Given the description of an element on the screen output the (x, y) to click on. 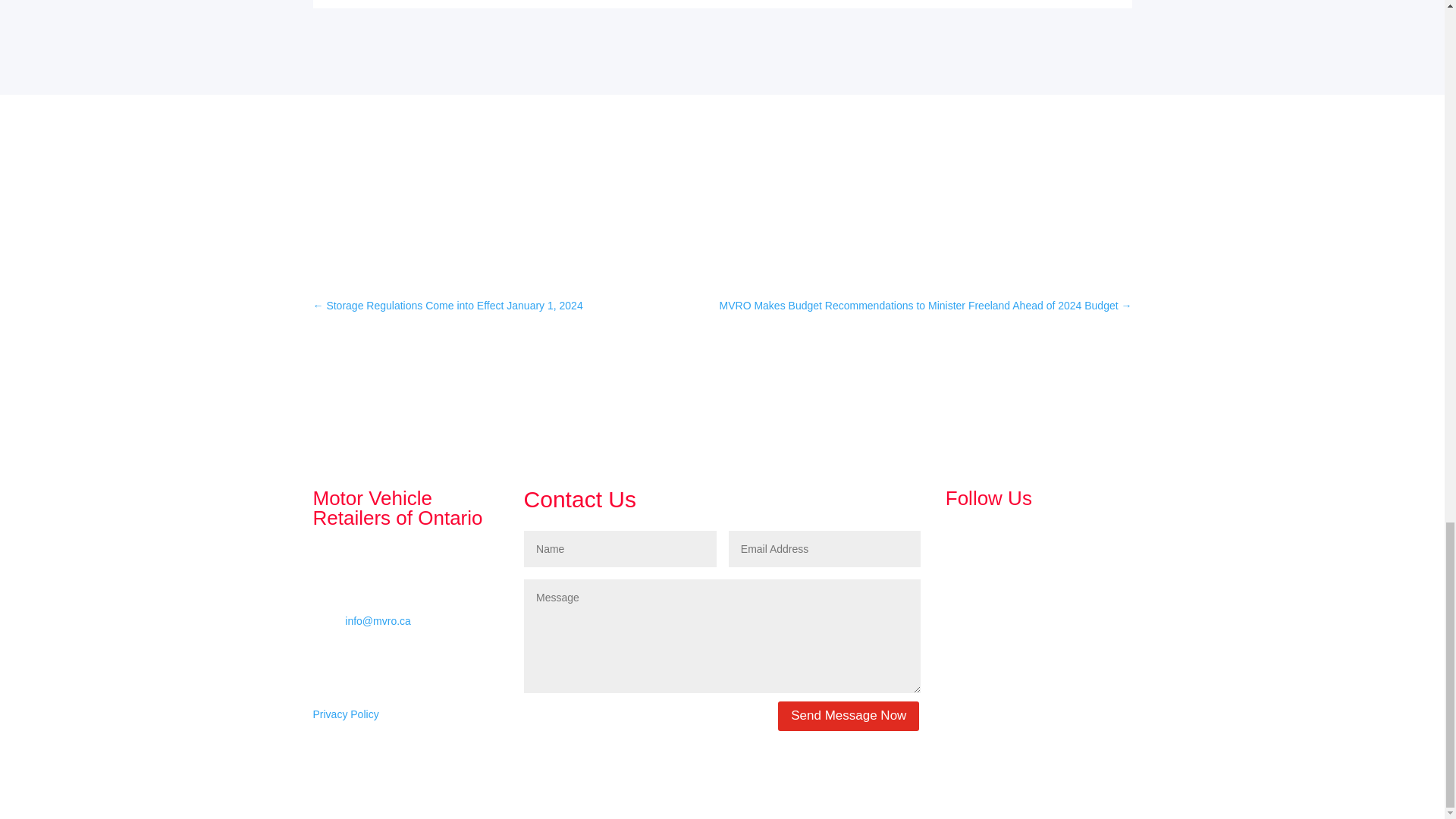
Follow on Twitter (1018, 539)
Follow on Facebook (956, 539)
Privacy Policy (345, 714)
Follow on Instagram (987, 539)
